Given the description of an element on the screen output the (x, y) to click on. 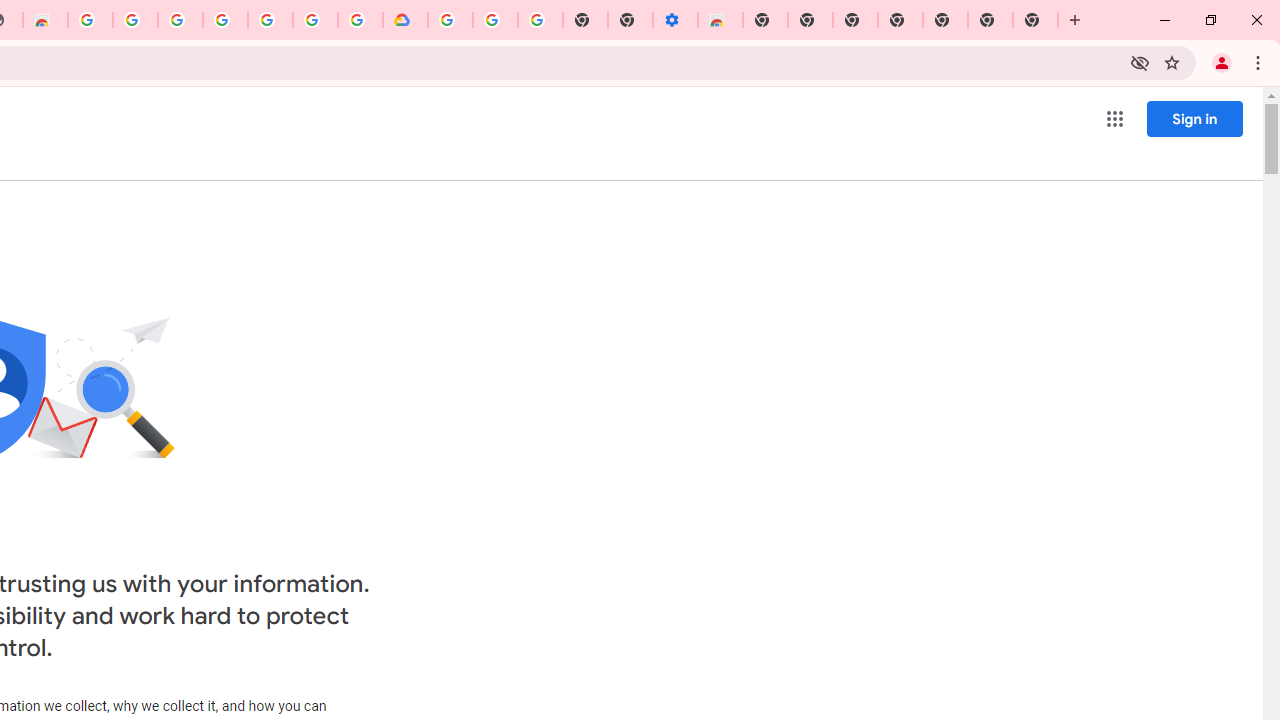
Google Account Help (495, 20)
Sign in - Google Accounts (450, 20)
Chrome Web Store - Accessibility extensions (720, 20)
Settings - Accessibility (674, 20)
